Given the description of an element on the screen output the (x, y) to click on. 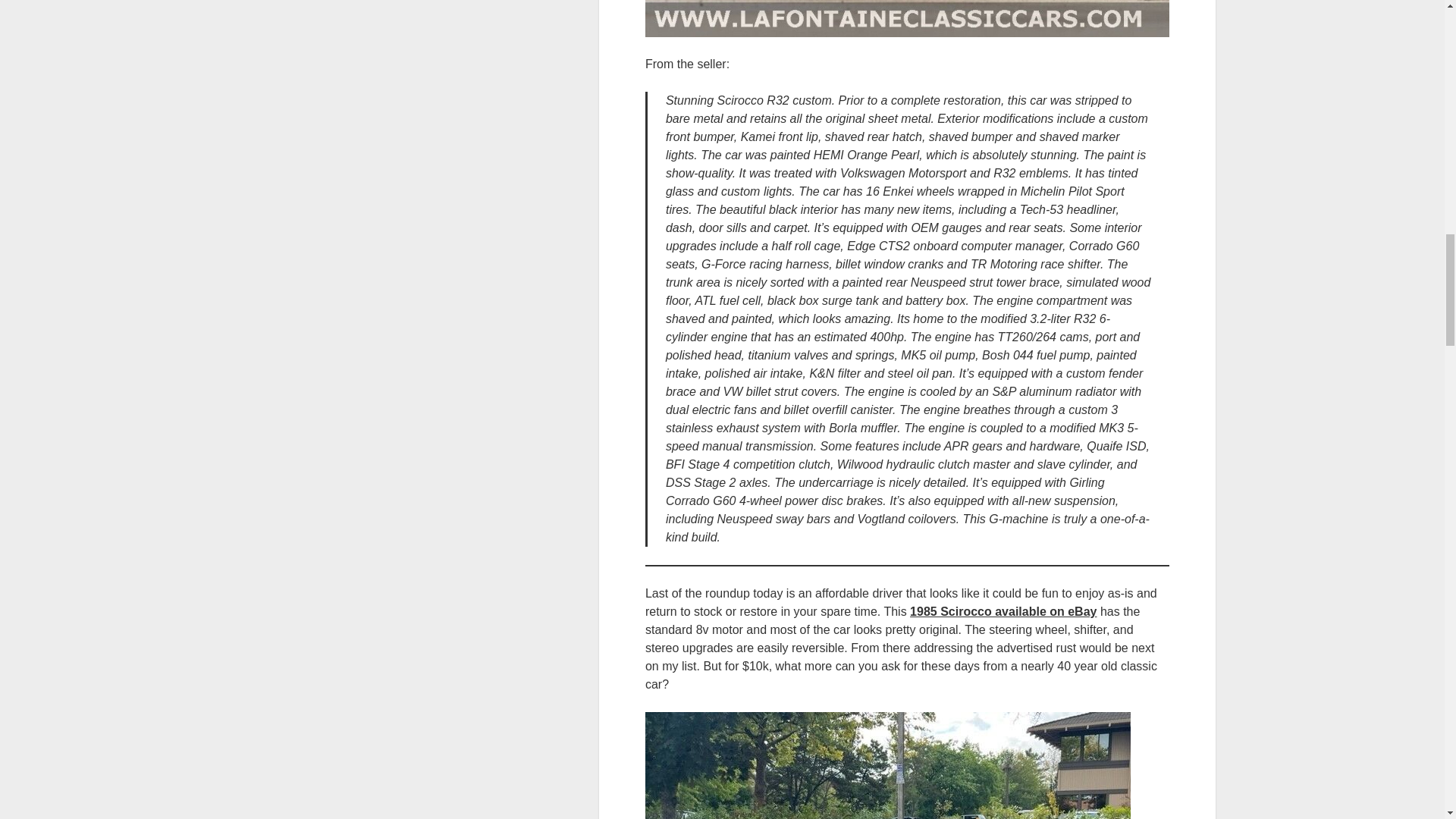
1985 Scirocco available on eBay (1003, 611)
